Given the description of an element on the screen output the (x, y) to click on. 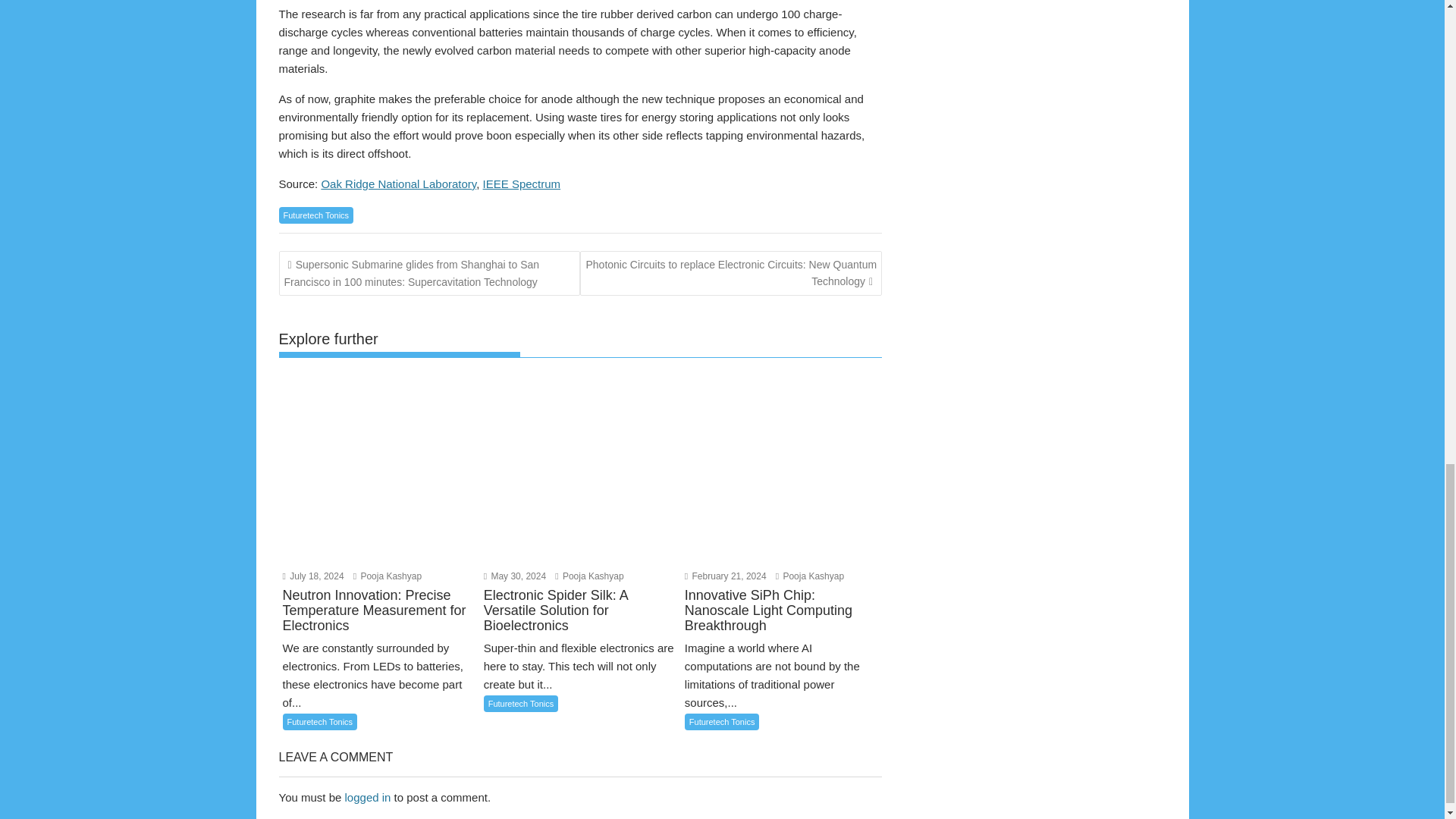
Pooja Kashyap (810, 575)
Pooja Kashyap (387, 575)
Pooja Kashyap (588, 575)
